Given the description of an element on the screen output the (x, y) to click on. 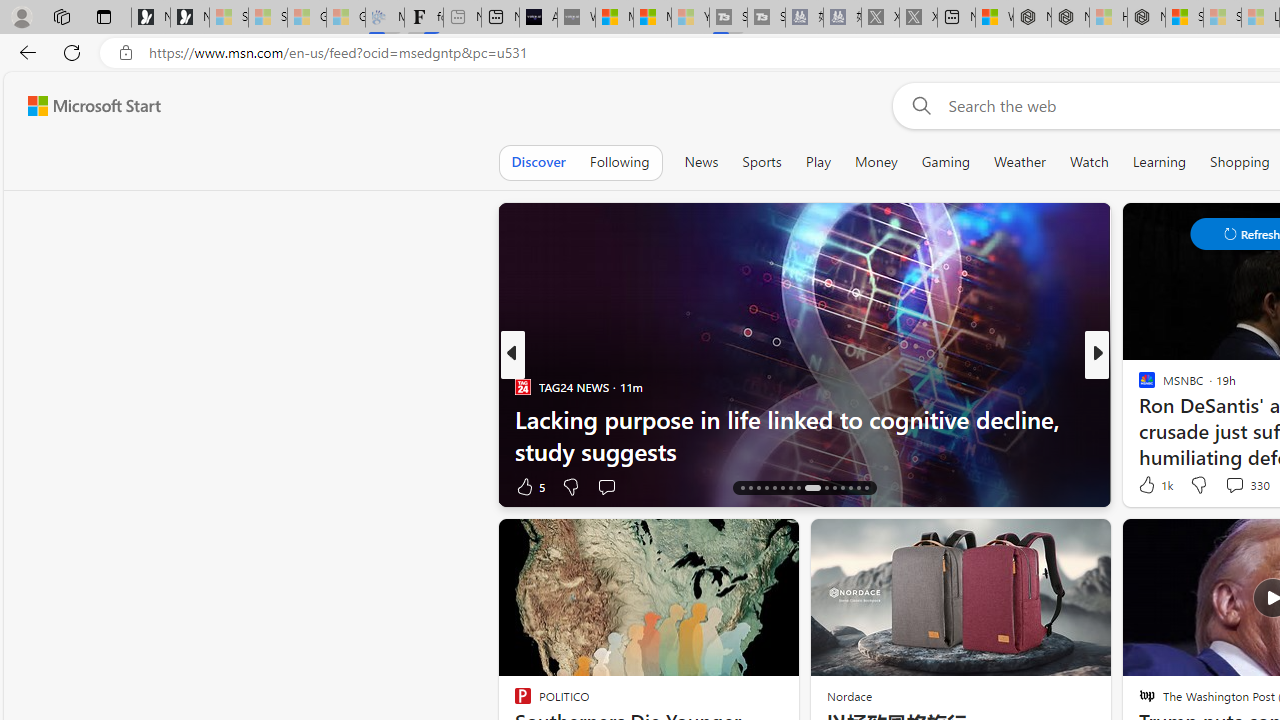
View comments 96 Comment (1234, 485)
AutomationID: tab-23 (797, 487)
What's the best AI voice generator? - voice.ai - Sleeping (576, 17)
AutomationID: tab-30 (865, 487)
View comments 330 Comment (1234, 485)
Skip to footer (82, 105)
181 Like (1151, 486)
